Given the description of an element on the screen output the (x, y) to click on. 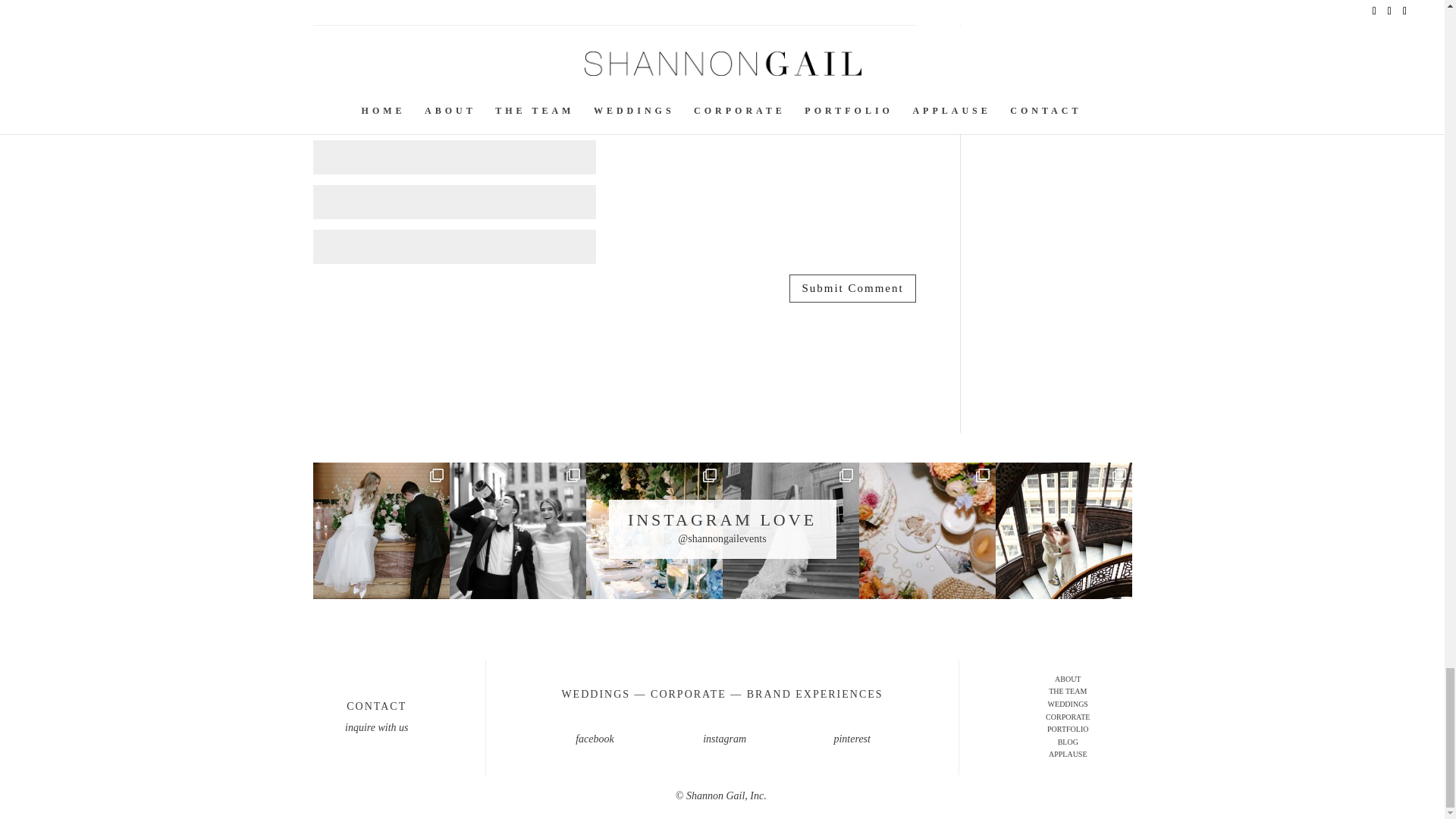
Submit Comment (852, 288)
Submit Comment (852, 288)
